Given the description of an element on the screen output the (x, y) to click on. 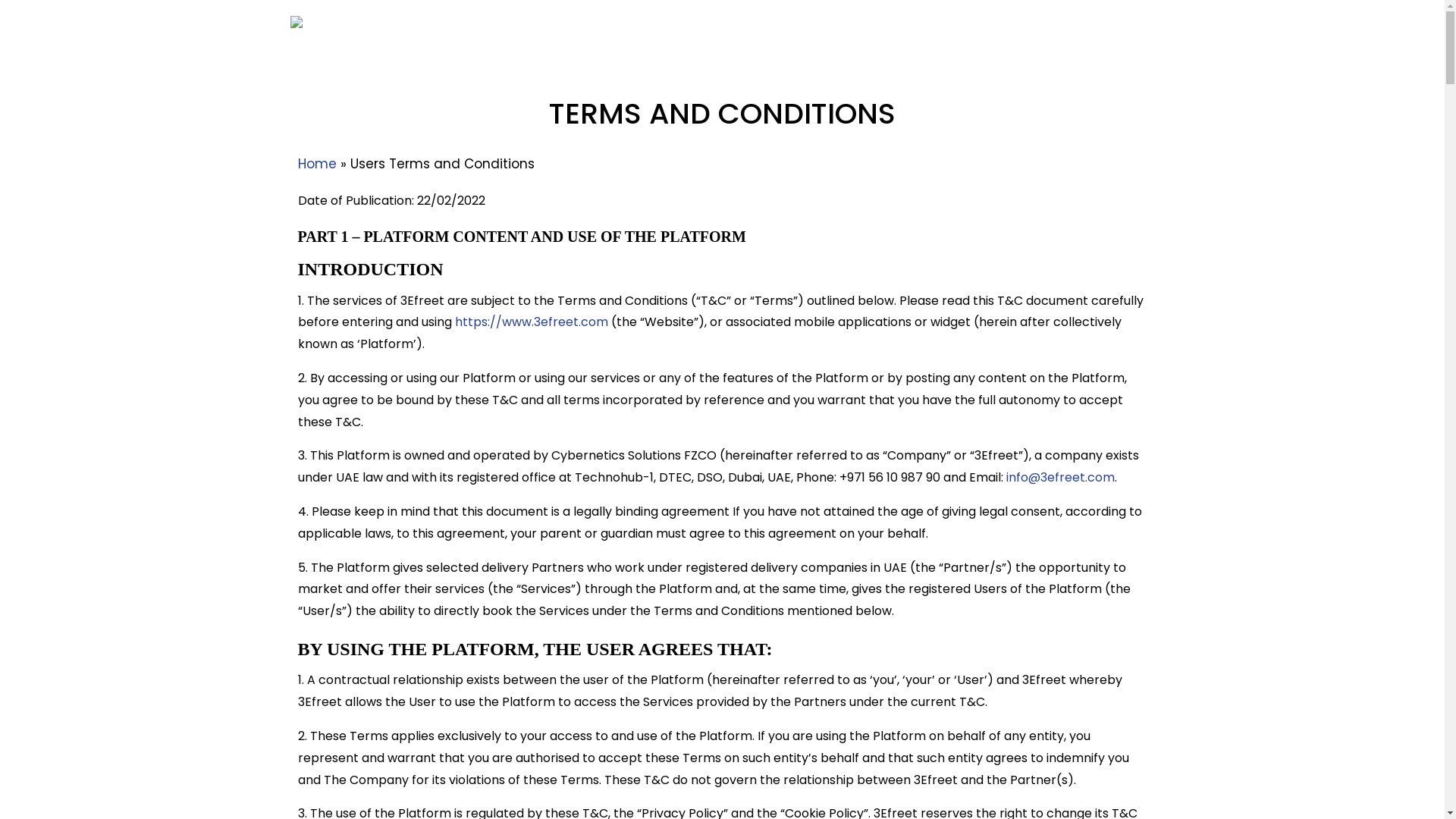
Home Element type: text (1116, 22)
https://www.3efreet.com Element type: text (531, 321)
Home Element type: text (316, 163)
info@3efreet.com Element type: text (1059, 477)
